Given the description of an element on the screen output the (x, y) to click on. 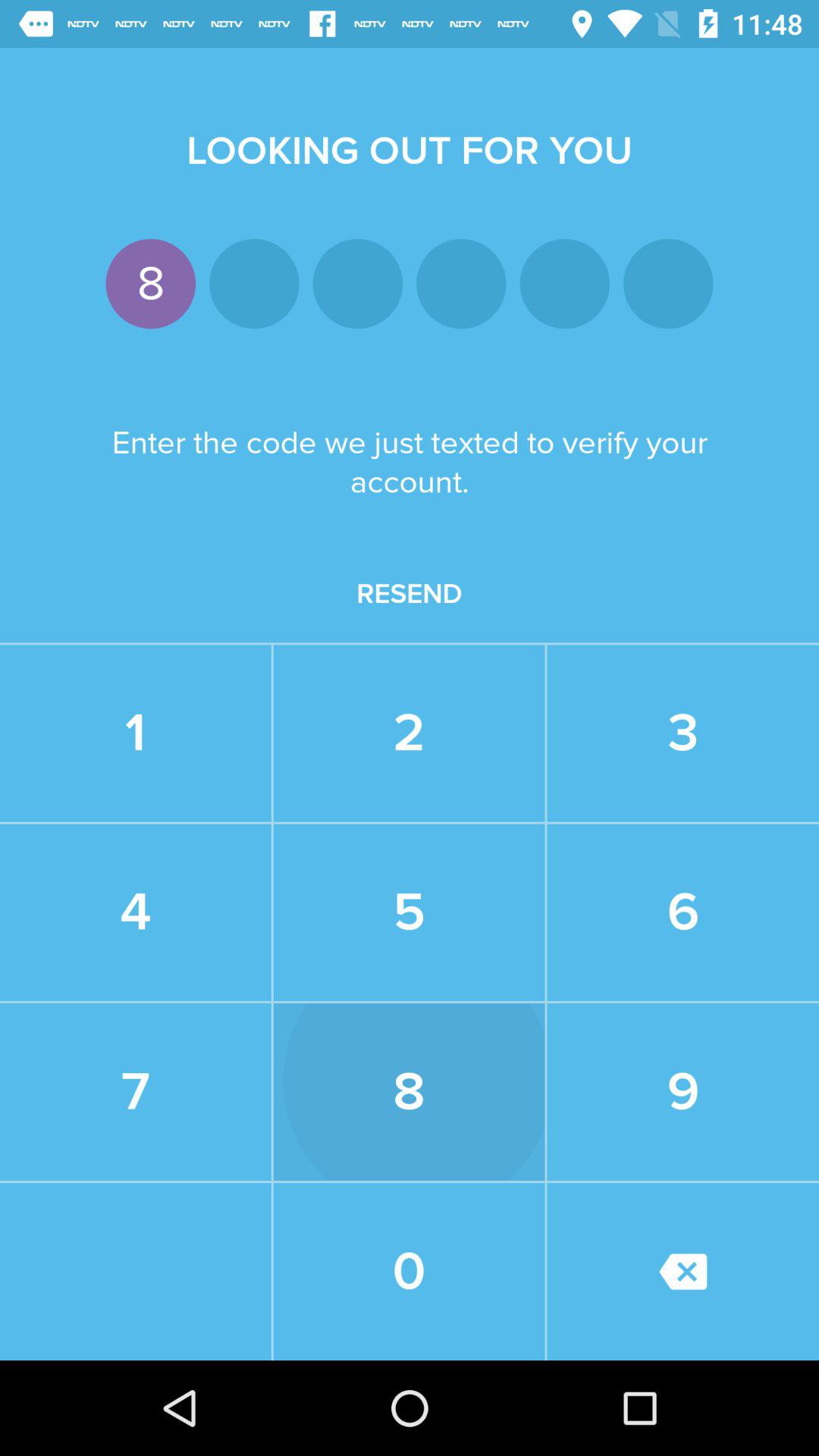
launch the 2 item (408, 732)
